Given the description of an element on the screen output the (x, y) to click on. 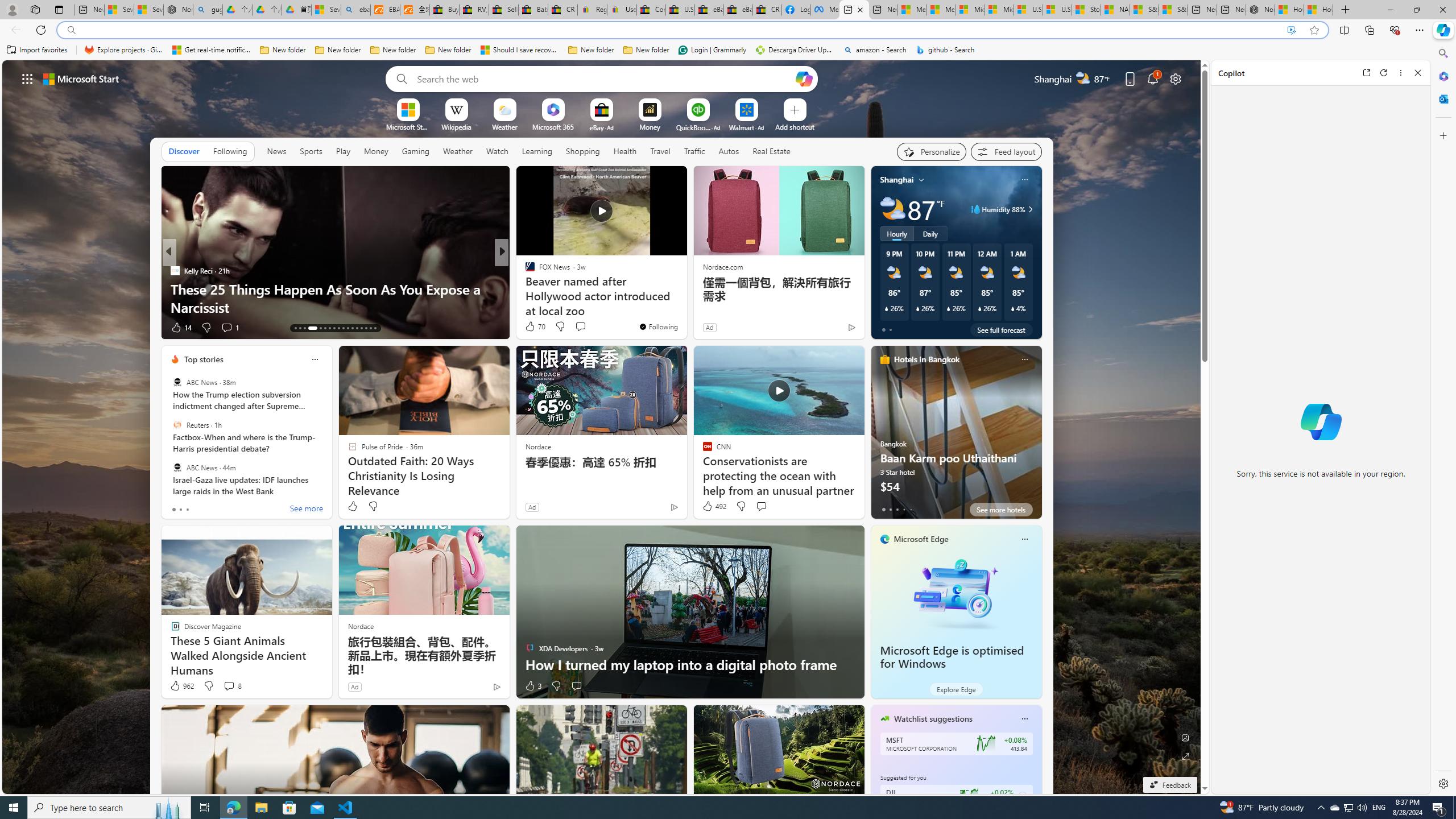
View comments 24 Comment (580, 327)
1k Like (530, 327)
Enhance video (1291, 29)
59 Like (180, 327)
Baan Karm poo Uthaithani (956, 436)
Class: weather-arrow-glyph (1029, 208)
github - Search (945, 49)
